Given the description of an element on the screen output the (x, y) to click on. 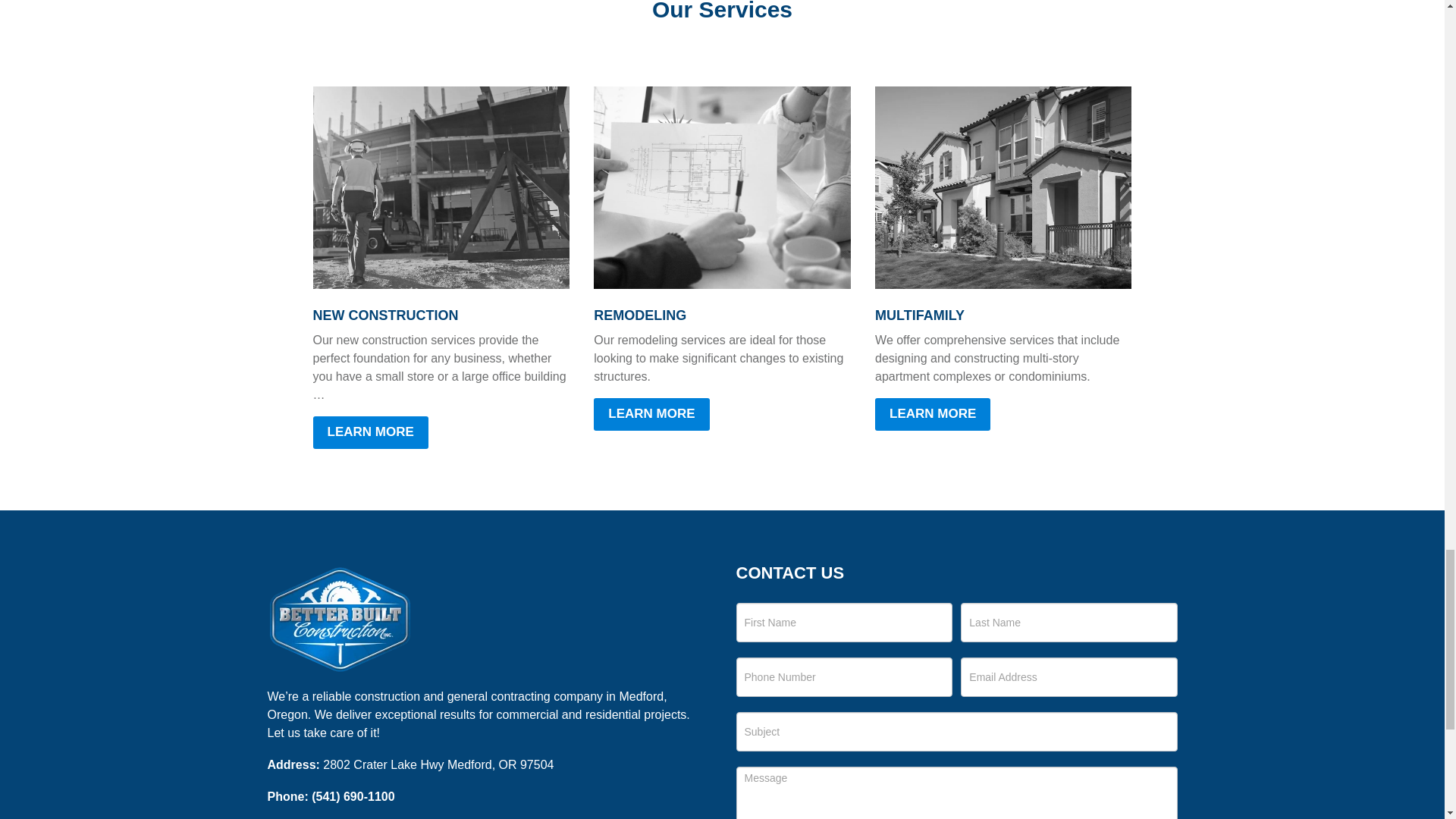
LEARN MORE (932, 414)
s3-tir (722, 187)
s3-multifamily (1003, 187)
LEARN MORE (651, 414)
s2-commercial-construction (441, 187)
LEARN MORE (370, 432)
